Given the description of an element on the screen output the (x, y) to click on. 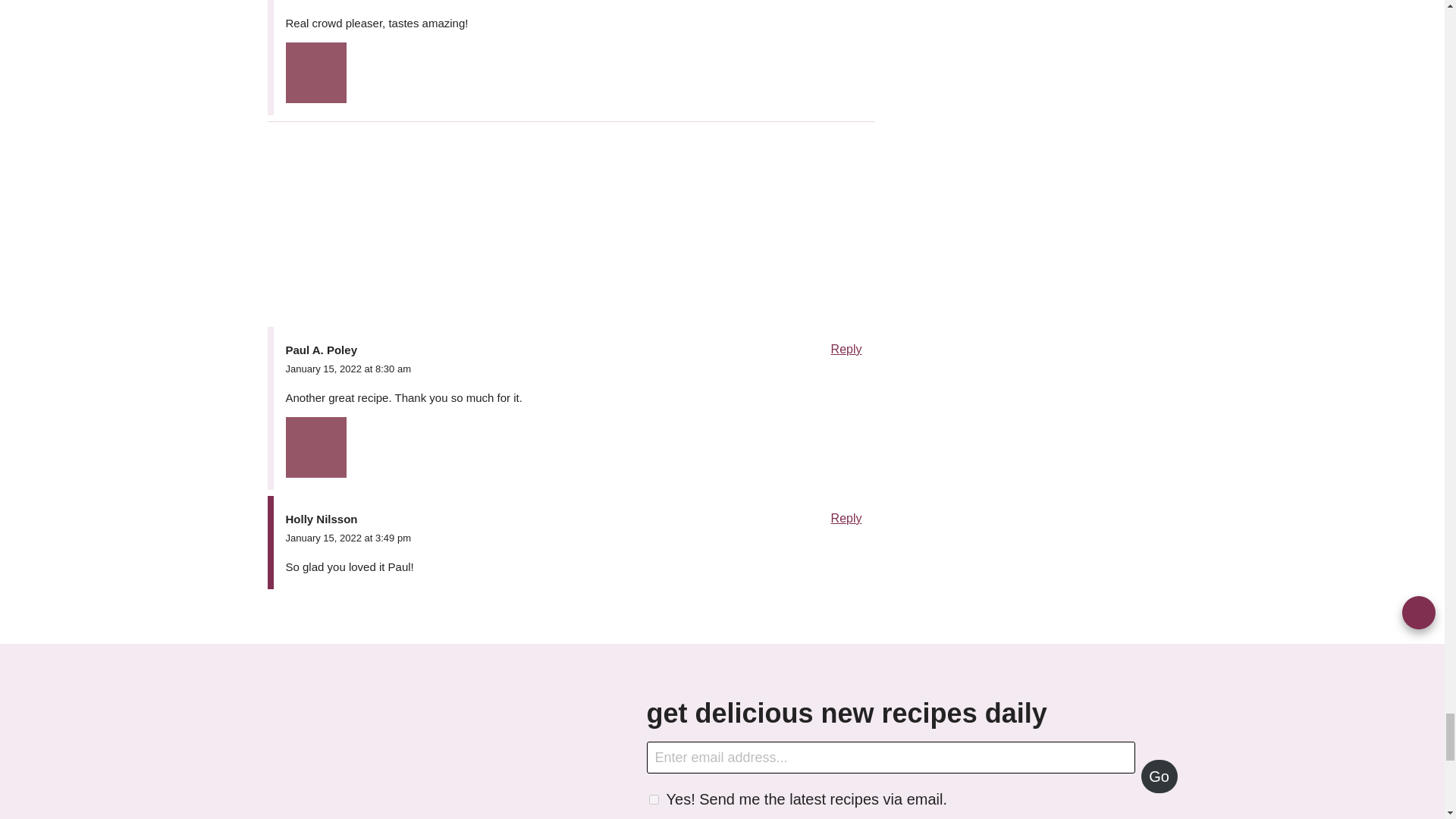
Yes! Send me the latest recipes via email. (654, 799)
